Given the description of an element on the screen output the (x, y) to click on. 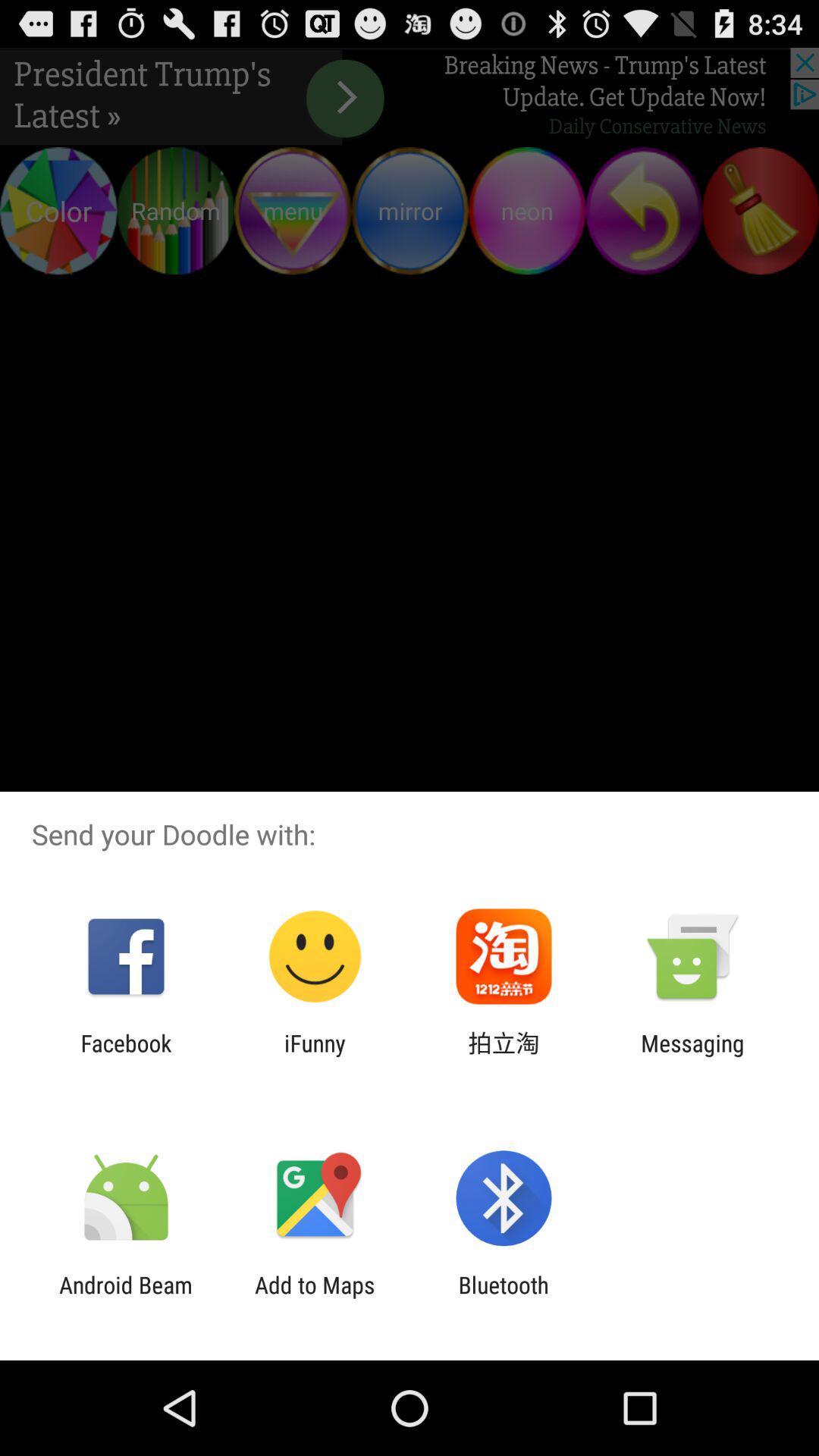
choose app next to the android beam (314, 1298)
